Given the description of an element on the screen output the (x, y) to click on. 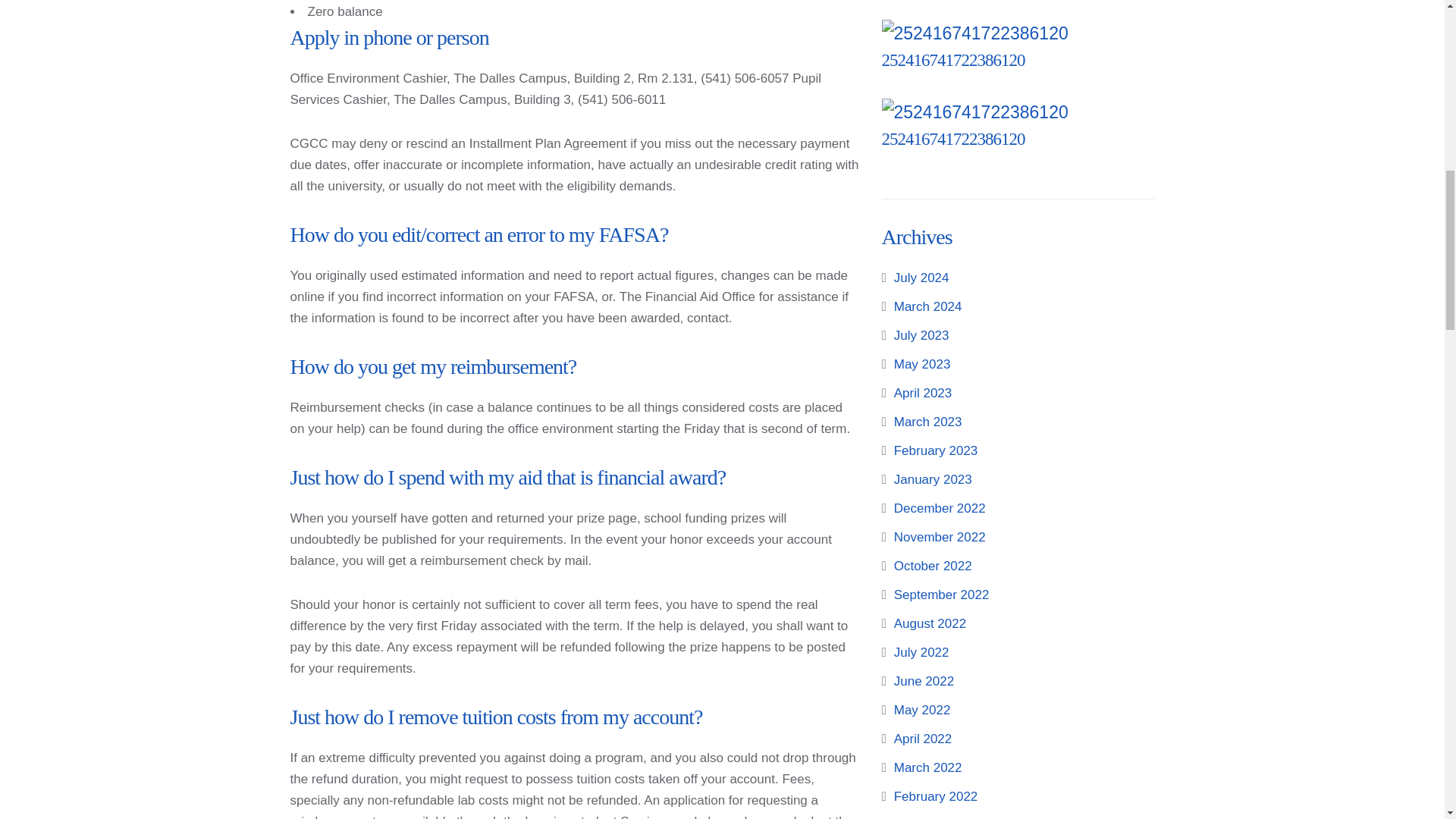
July 2023 (921, 335)
May 2023 (921, 364)
252416741722386120 (952, 138)
252416741722386120 (952, 138)
July 2024 (921, 278)
252416741722386120 (952, 59)
March 2024 (927, 306)
252416741722386120 (952, 59)
